Given the description of an element on the screen output the (x, y) to click on. 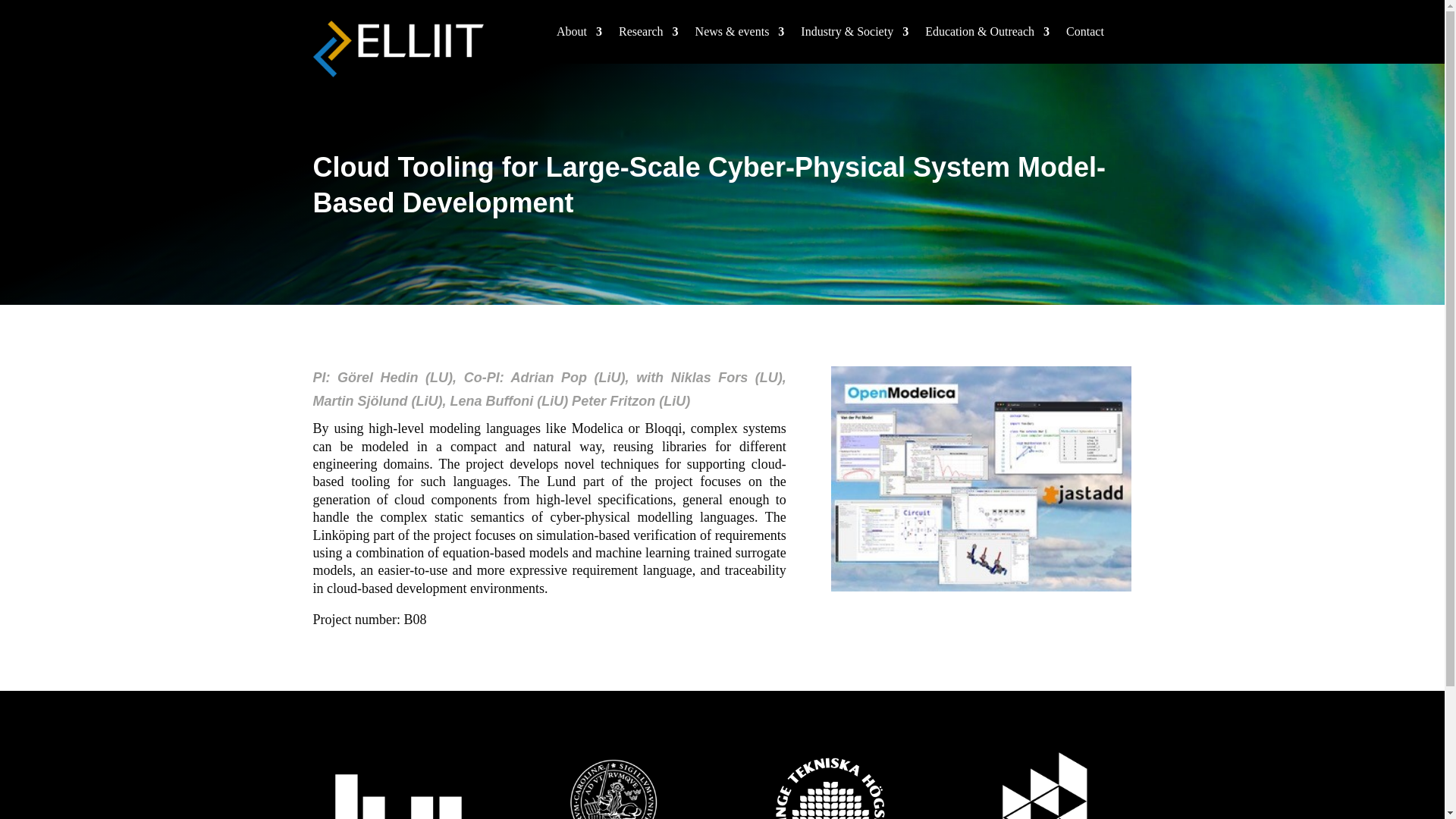
Research (648, 34)
About (579, 34)
elliit-logotyp-vit-gul (398, 48)
Contact (1084, 34)
